Given the description of an element on the screen output the (x, y) to click on. 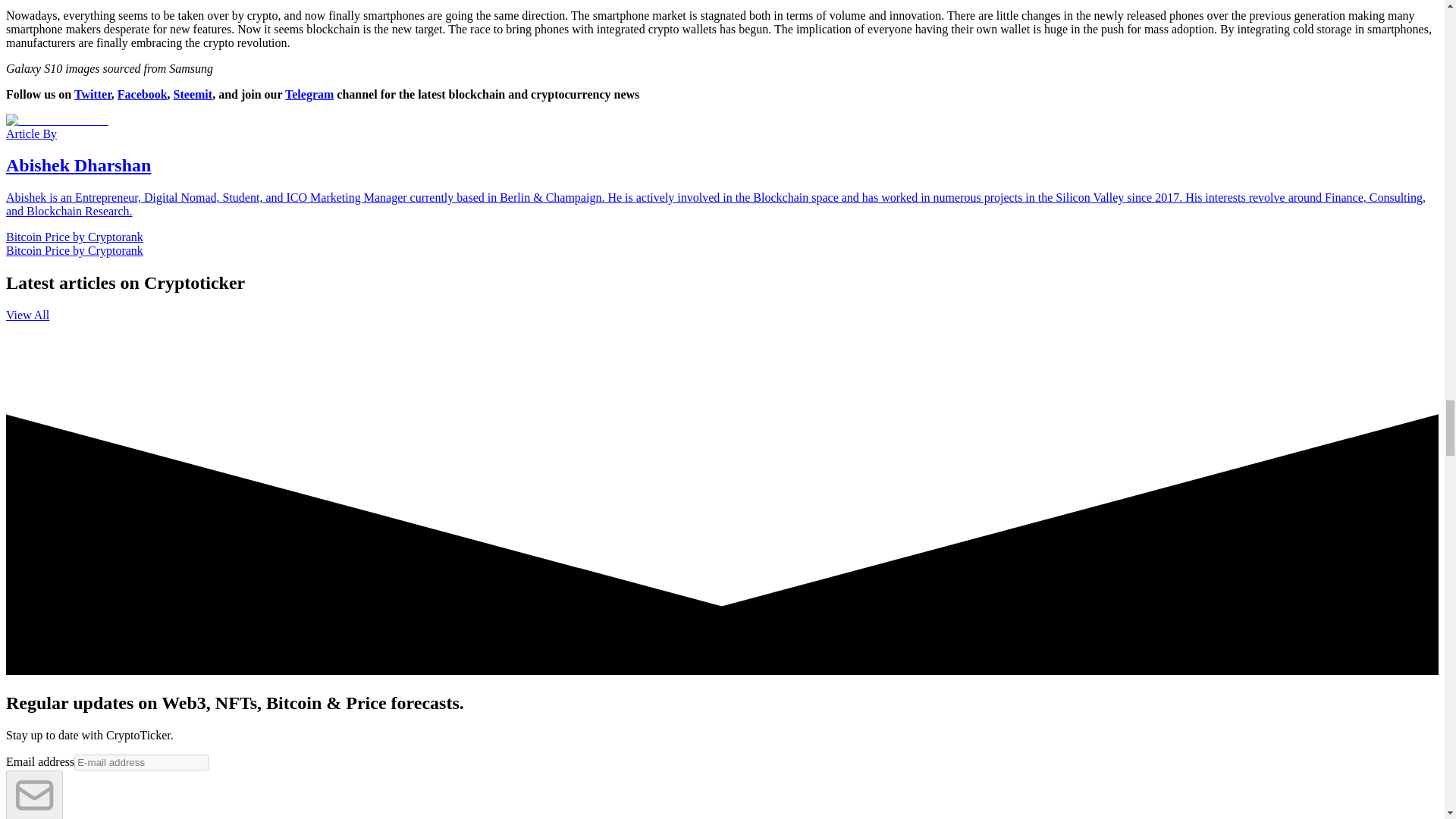
Telegram (309, 93)
Steemit (192, 93)
Facebook (142, 93)
Bitcoin Price by Cryptorank (73, 250)
Subscribe (33, 794)
View All (27, 314)
Bitcoin Price by Cryptorank (73, 236)
Twitter (93, 93)
